Given the description of an element on the screen output the (x, y) to click on. 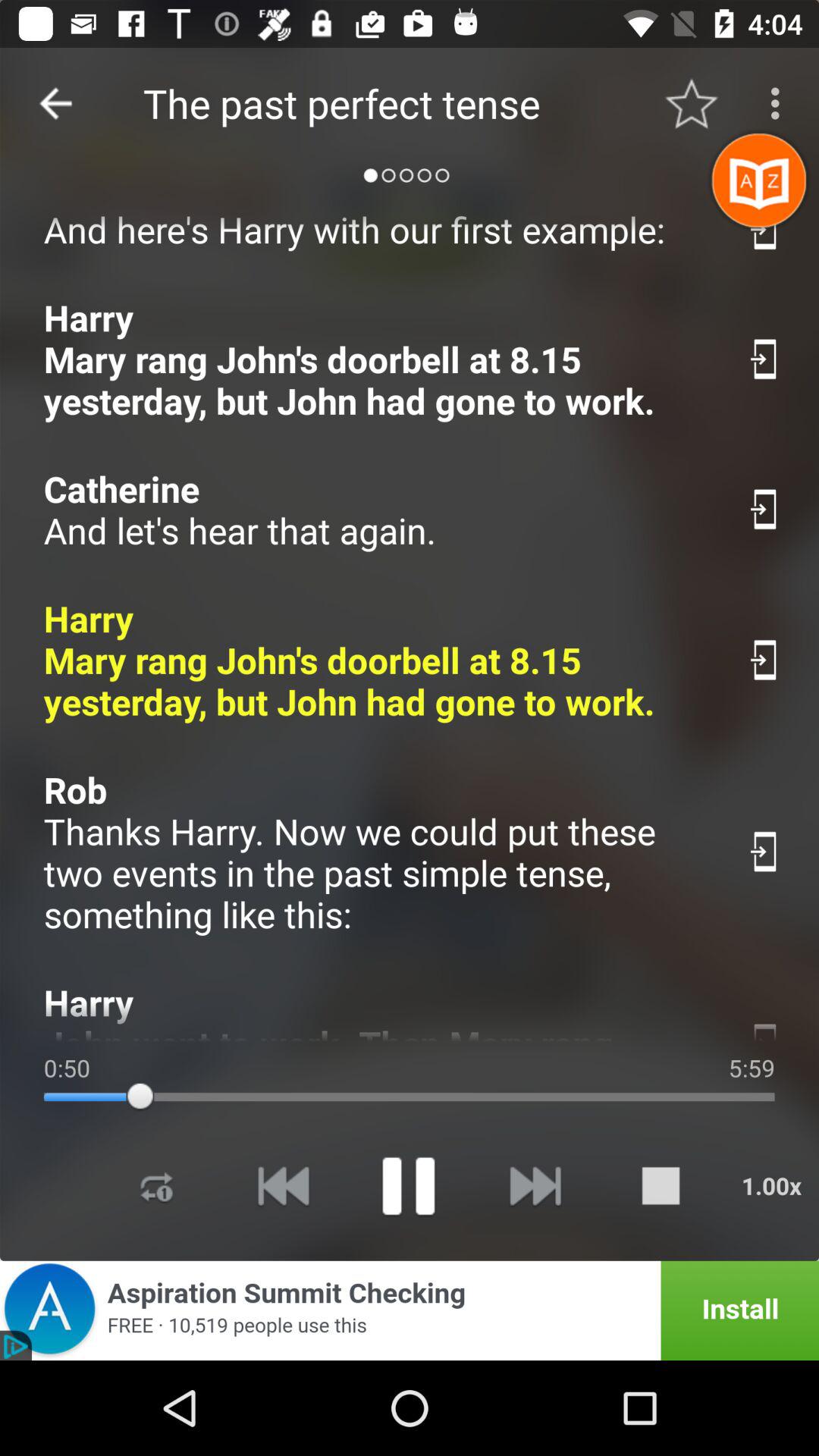
press the item to the right of the the past perfect (691, 103)
